Given the description of an element on the screen output the (x, y) to click on. 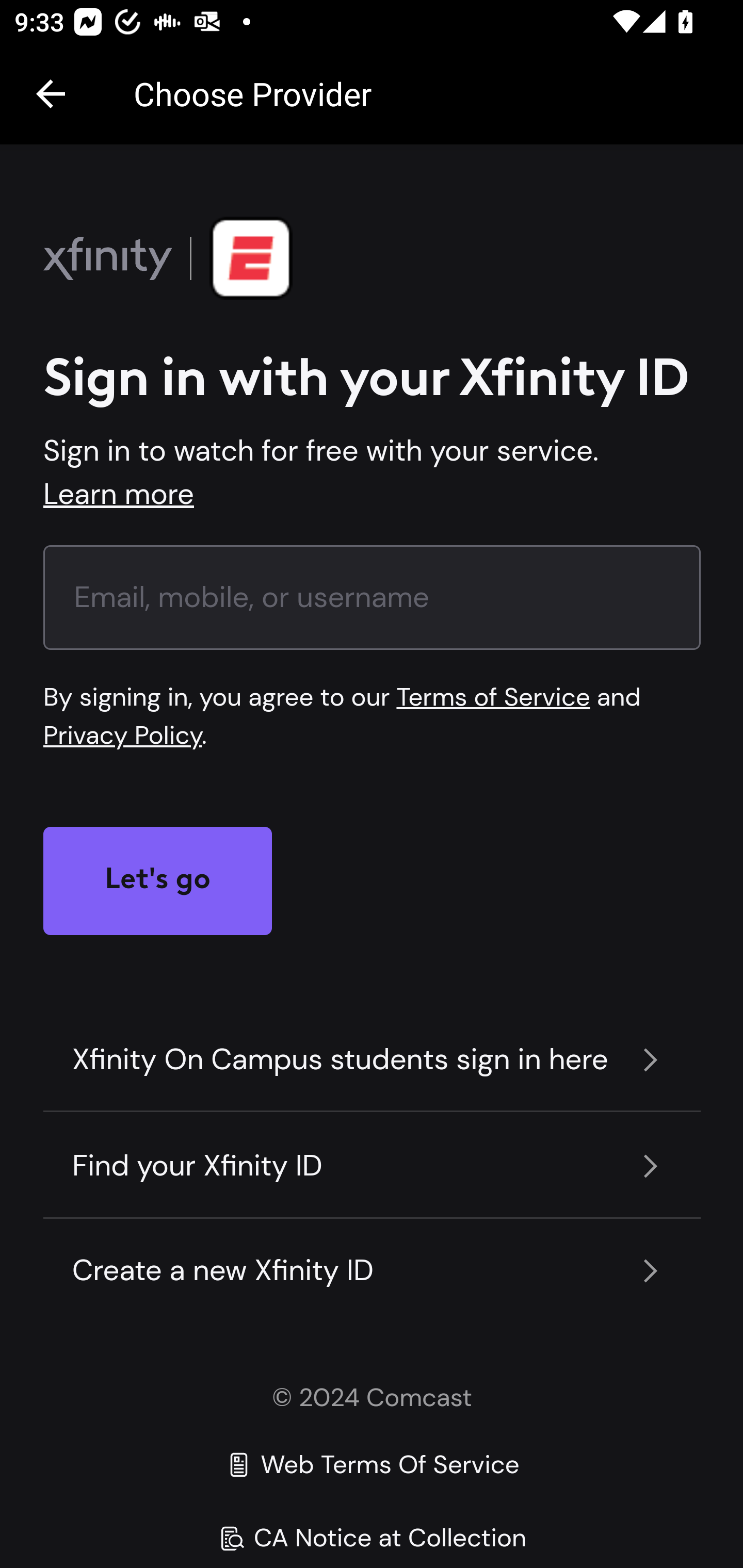
Navigate up (50, 93)
Learn more (118, 495)
Terms of Service (492, 697)
Privacy Policy (123, 735)
Let's go (157, 881)
Xfinity On Campus students sign in here (372, 1058)
Find your Xfinity ID (372, 1167)
Create a new Xfinity ID (372, 1271)
Web Terms Of Service (371, 1464)
CA Notice at Collection (371, 1537)
